Given the description of an element on the screen output the (x, y) to click on. 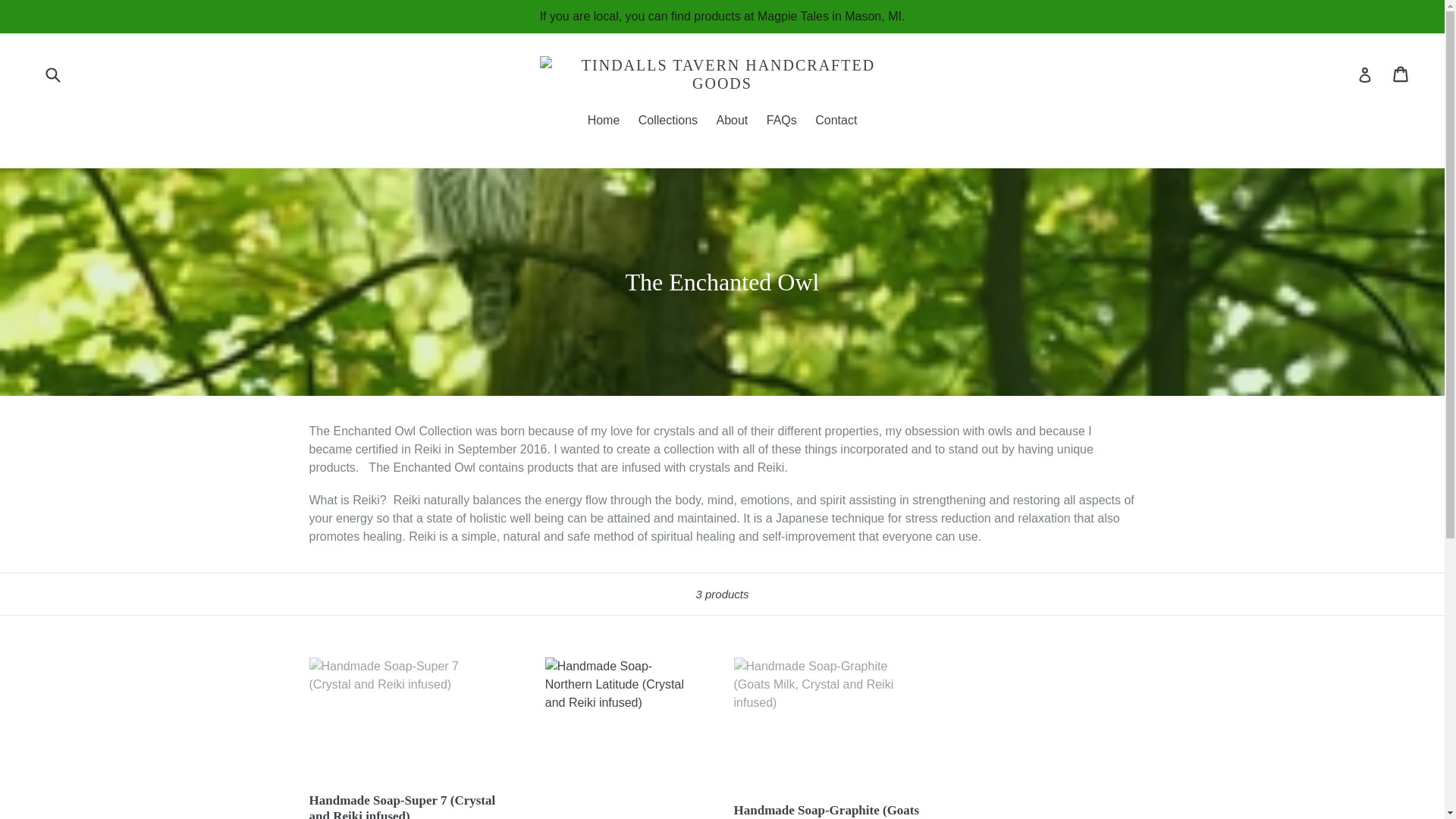
FAQs (781, 121)
Collections (667, 121)
Contact (836, 121)
Home (603, 121)
About (731, 121)
